Given the description of an element on the screen output the (x, y) to click on. 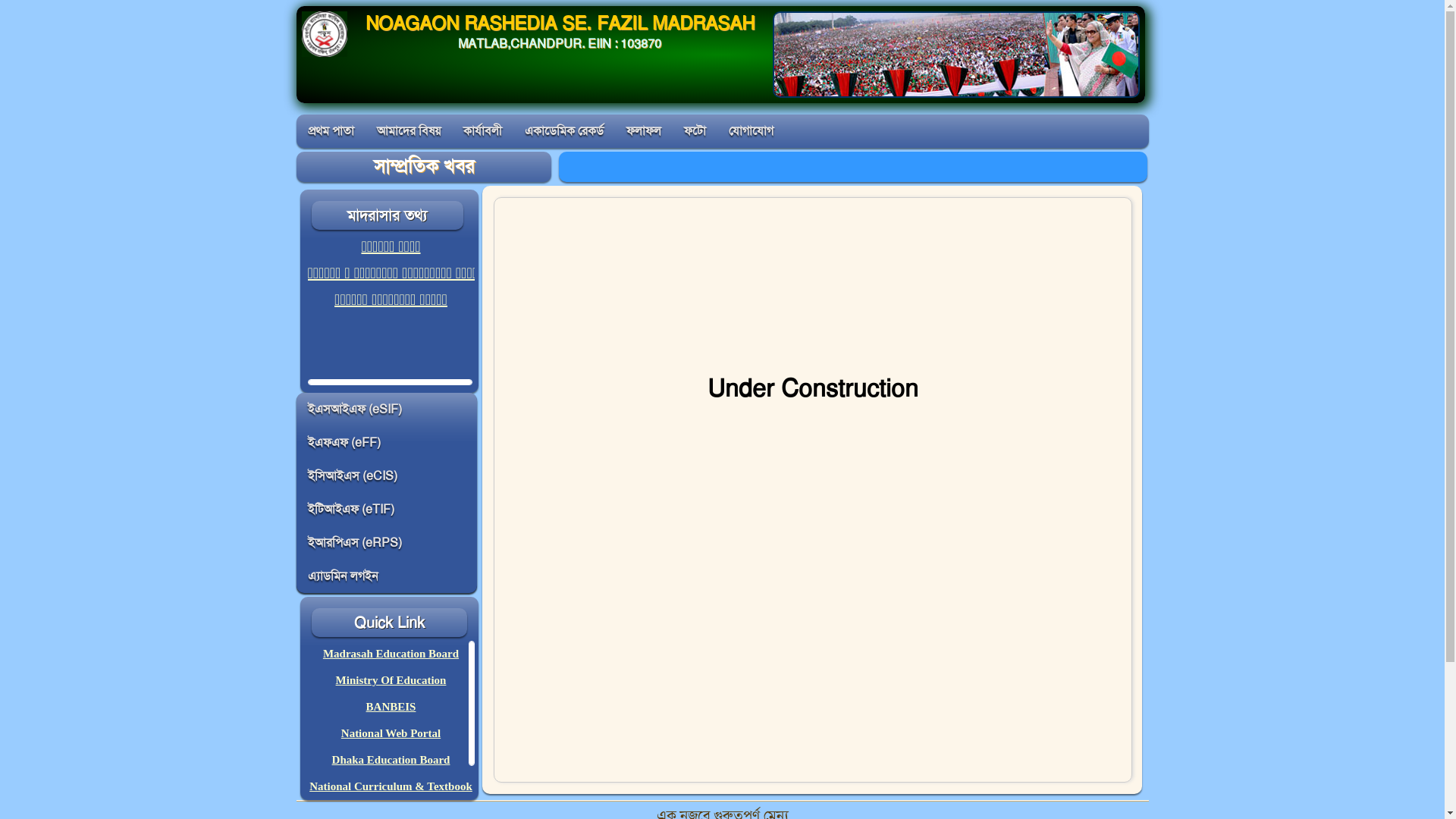
Dhaka Education Board Element type: text (391, 759)
Madrasah Education Board Element type: text (390, 653)
Ministry Of Education Element type: text (390, 680)
National Curriculum & Textbook Element type: text (390, 786)
BANBEIS Element type: text (391, 706)
National Web Portal Element type: text (390, 733)
